Given the description of an element on the screen output the (x, y) to click on. 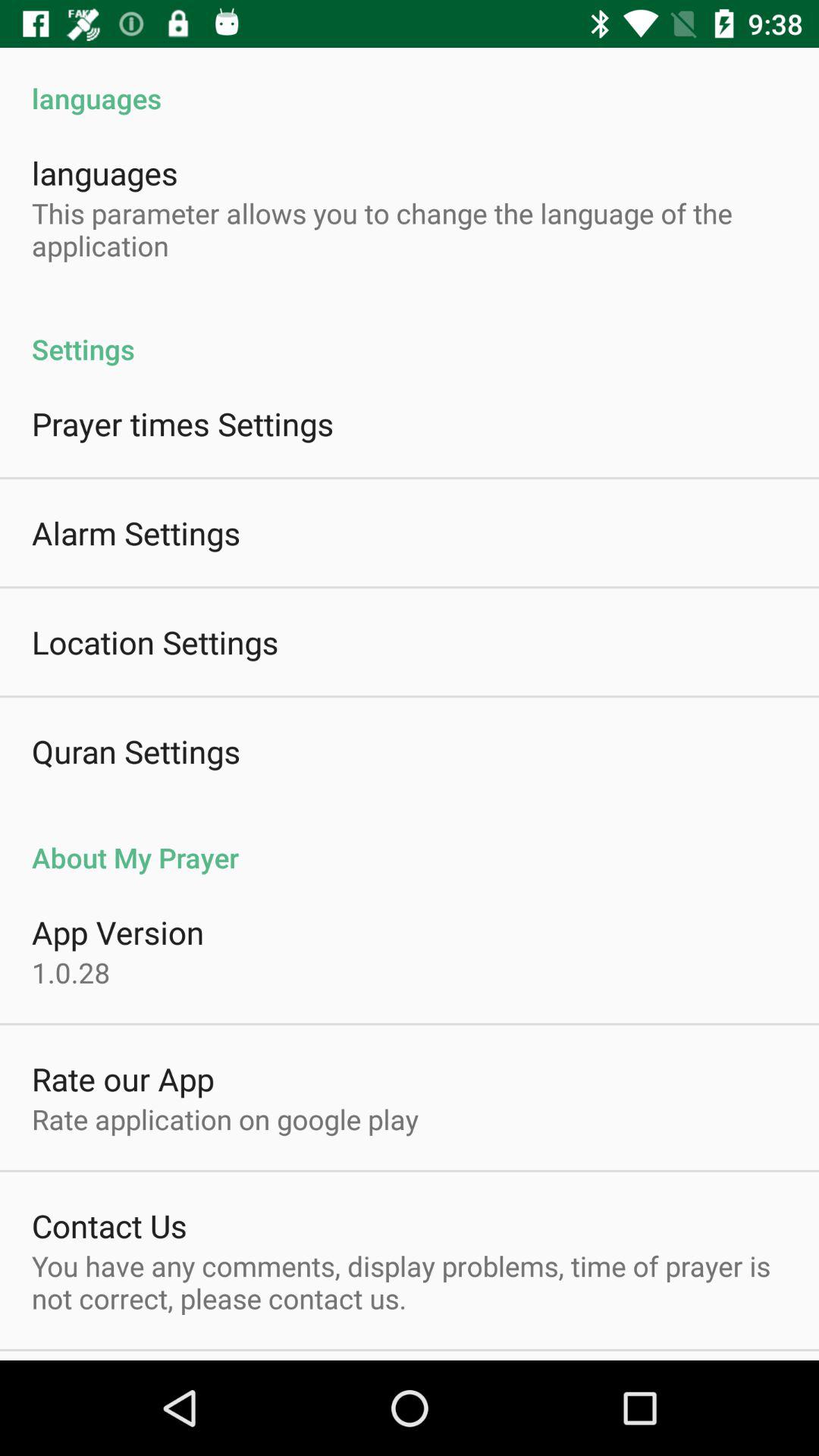
scroll to the rate our app item (122, 1078)
